Given the description of an element on the screen output the (x, y) to click on. 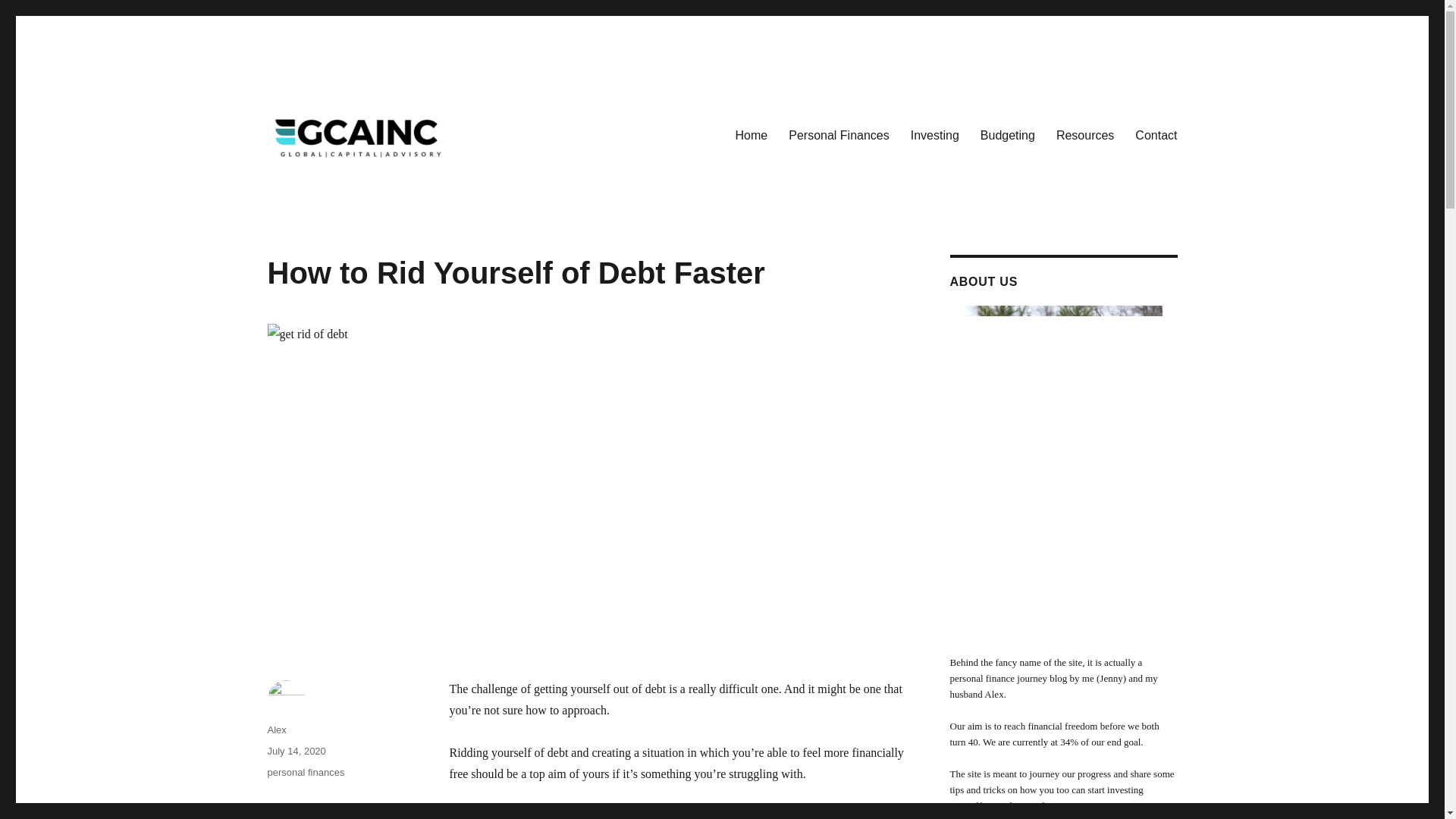
Personal Finances (838, 135)
July 14, 2020 (295, 750)
Home (751, 135)
personal finances (304, 772)
Contact (1156, 135)
Investing (934, 135)
Budgeting (1007, 135)
Resources (1084, 135)
Alex (275, 729)
